Given the description of an element on the screen output the (x, y) to click on. 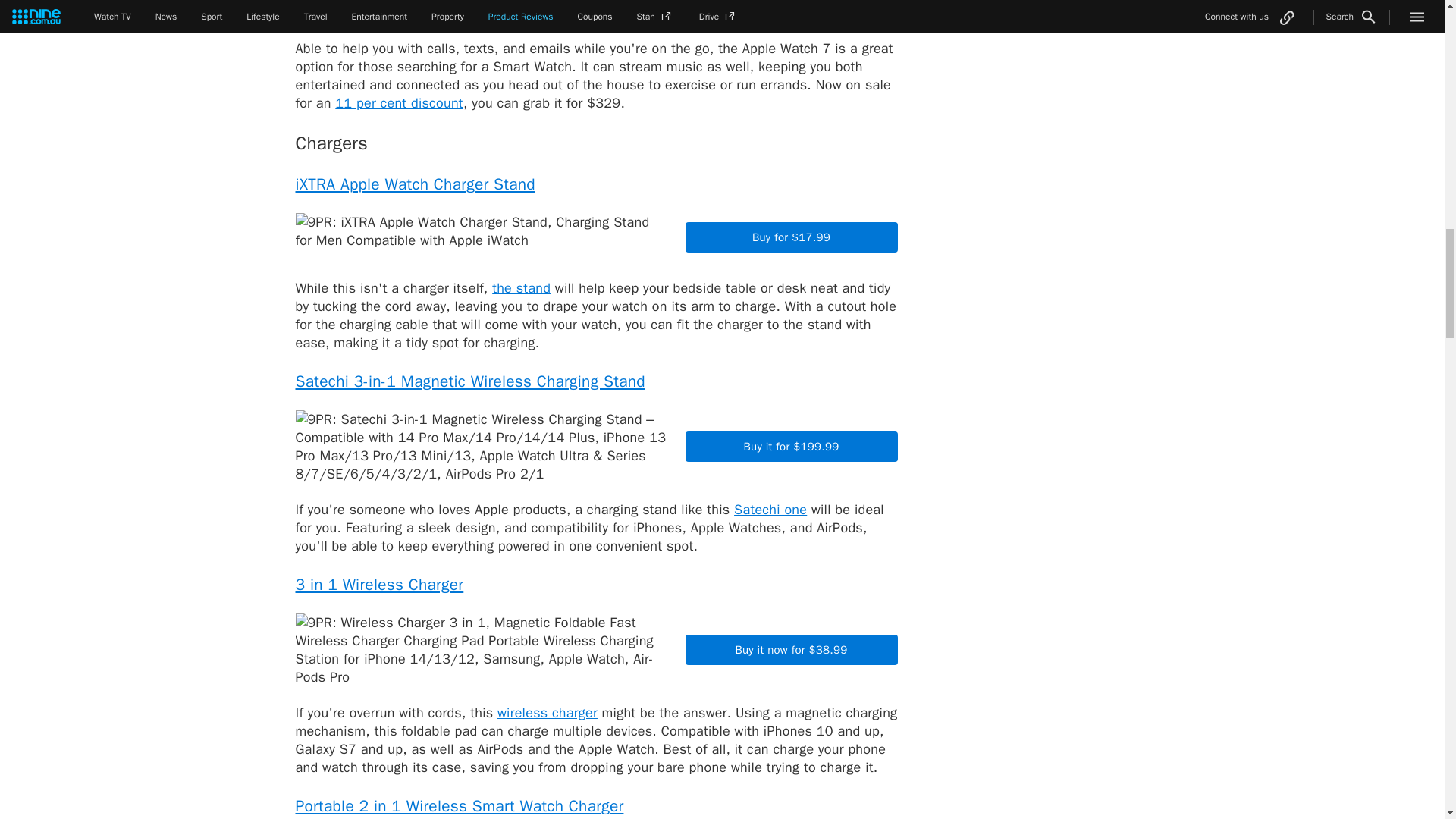
Satechi one (769, 509)
wireless charger (546, 712)
the stand (521, 288)
3 in 1 Wireless Charger (379, 584)
iXTRA Apple Watch Charger Stand (415, 184)
Satechi 3-in-1 Magnetic Wireless Charging Stand (470, 381)
the stand (521, 288)
iXTRA Apple Watch Charger Stand (415, 184)
11 per cent discount (398, 103)
Portable 2 in 1 Wireless Smart Watch Charger (459, 805)
